Given the description of an element on the screen output the (x, y) to click on. 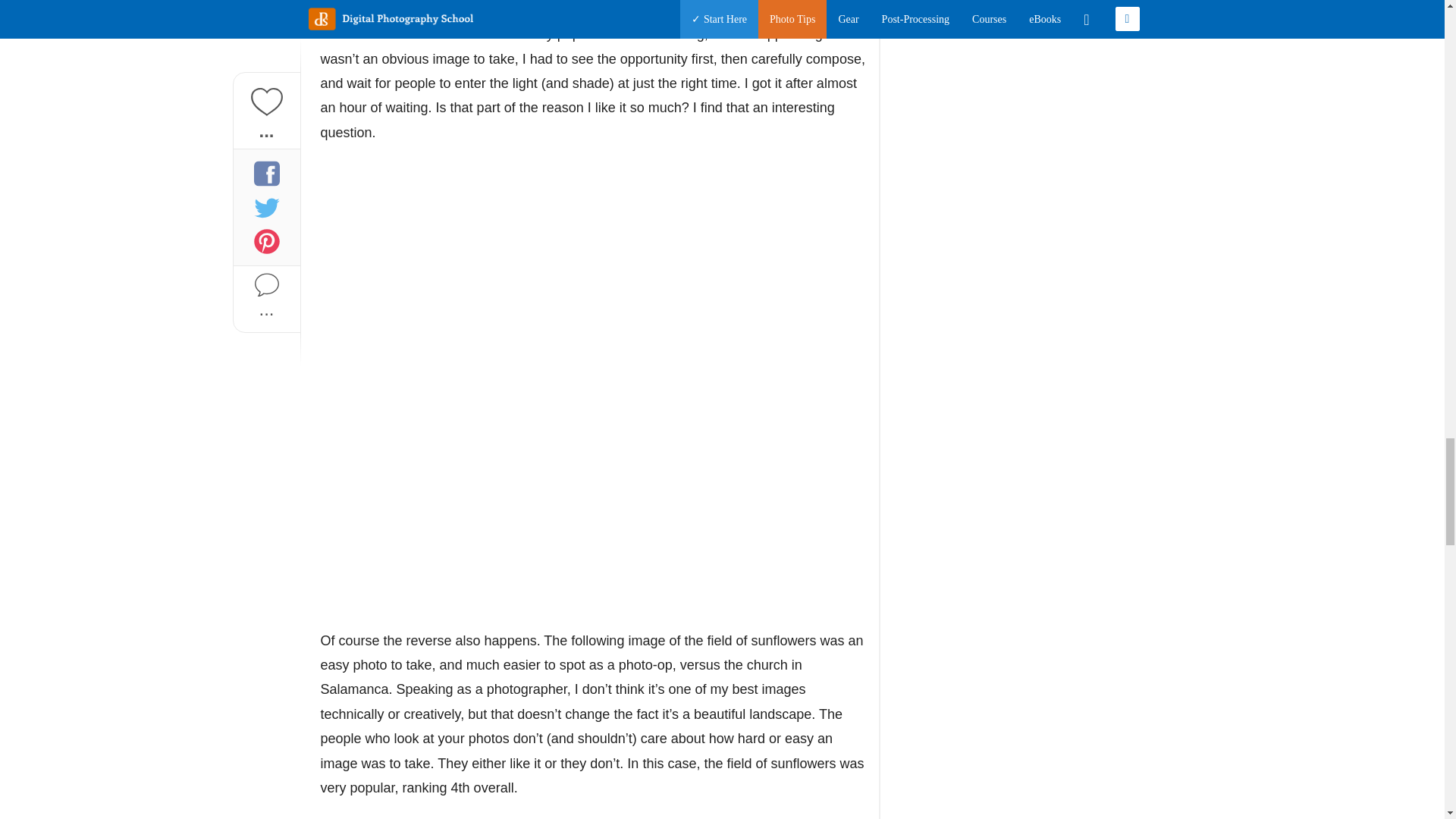
church shadows--ranked 208.jpg (471, 306)
wild horse roundup--ranked 133.jpg (595, 29)
